Given the description of an element on the screen output the (x, y) to click on. 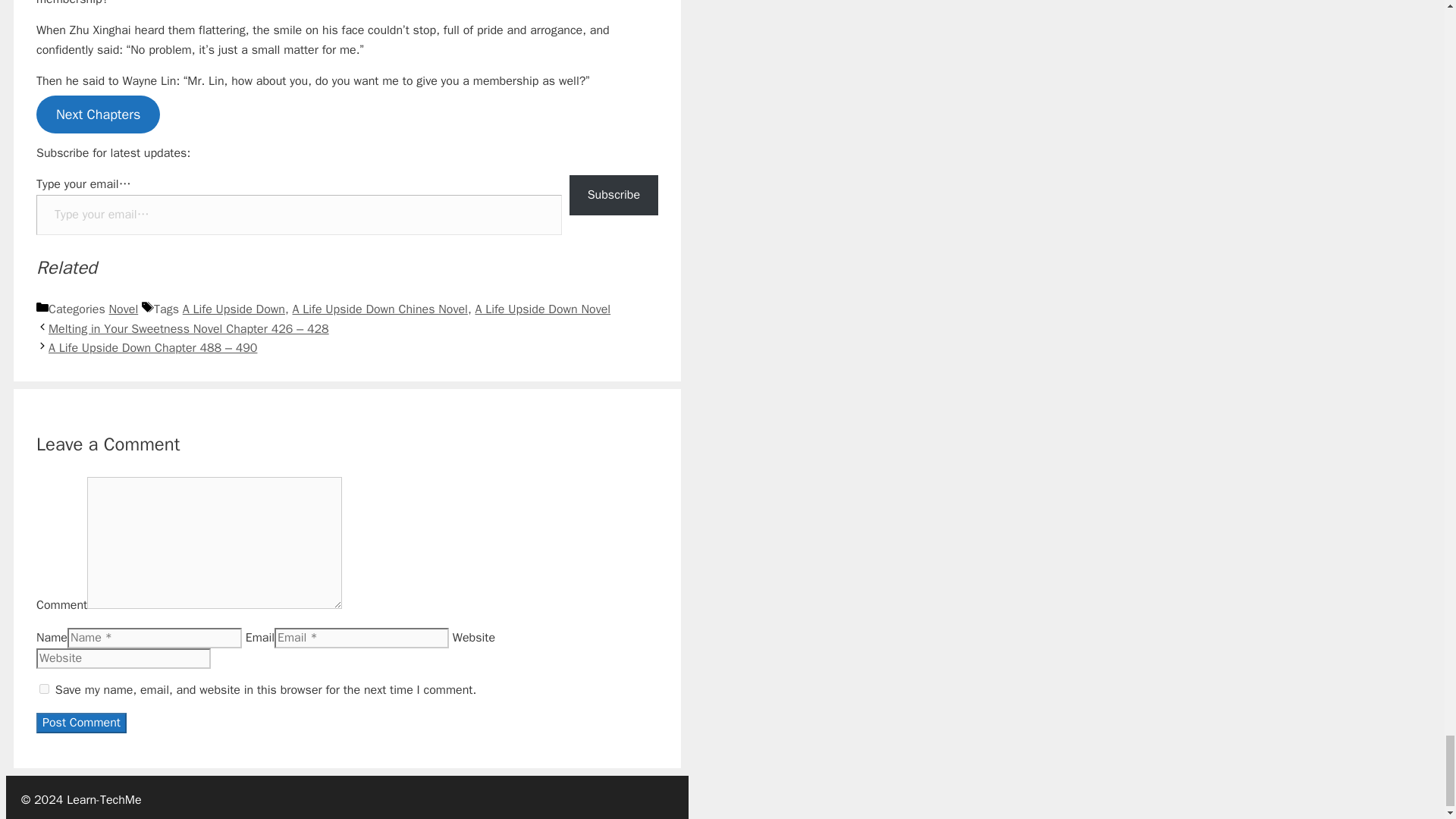
Please fill in this field. (299, 214)
Novel (123, 309)
Post Comment (81, 721)
A Life Upside Down Chines Novel (379, 309)
A Life Upside Down (234, 309)
Post Comment (81, 721)
Subscribe (613, 195)
Next Chapters (98, 114)
yes (44, 688)
A Life Upside Down Novel (542, 309)
